Given the description of an element on the screen output the (x, y) to click on. 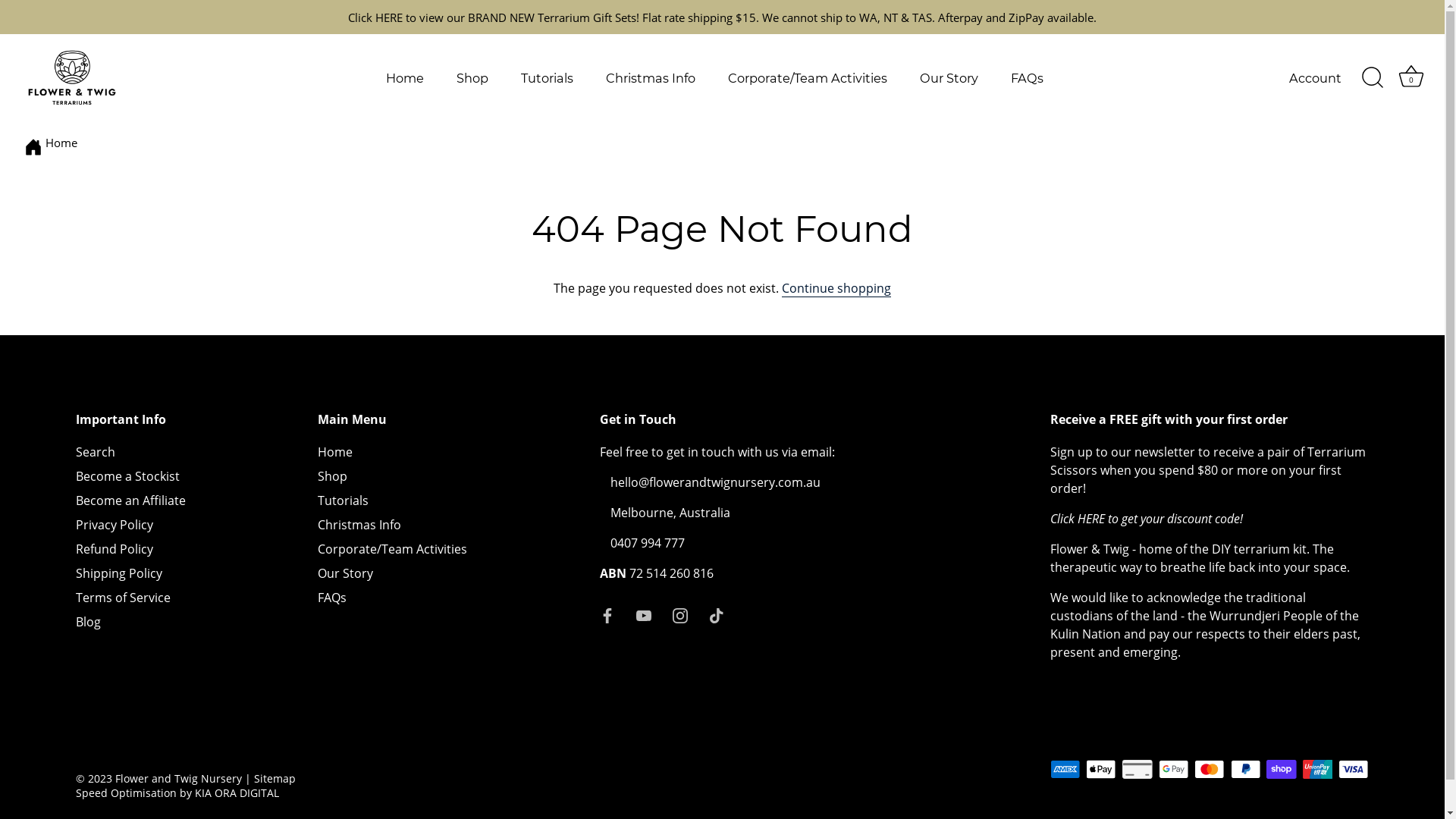
Account Element type: text (1328, 77)
Our Story Element type: text (948, 77)
Shipping Policy Element type: text (118, 572)
FAQs Element type: text (331, 597)
Become an Affiliate Element type: text (130, 500)
Home Element type: text (61, 142)
Home Element type: text (405, 77)
Youtube Element type: text (643, 613)
Shop Element type: text (332, 475)
Flower and Twig Nursery Element type: text (178, 778)
Terms of Service Element type: text (122, 597)
Become a Stockist Element type: text (127, 475)
Privacy Policy Element type: text (114, 524)
Search Element type: text (95, 451)
Speed Optimisation by KIA ORA DIGITAL Element type: text (177, 792)
Continue shopping Element type: text (836, 288)
hello@flowerandtwignursery.com.au Element type: text (715, 481)
Tutorials Element type: text (342, 500)
Corporate/Team Activities Element type: text (392, 548)
Refund Policy Element type: text (114, 548)
Basket
0 Element type: text (1410, 77)
Click HERE to get your discount code! Element type: text (1146, 518)
Home Element type: text (334, 451)
Tutorials Element type: text (547, 77)
Instagram Element type: text (679, 613)
Corporate/Team Activities Element type: text (806, 77)
Blog Element type: text (87, 621)
Sitemap Element type: text (274, 778)
Christmas Info Element type: text (359, 524)
Christmas Info Element type: text (650, 77)
Our Story Element type: text (345, 572)
FAQs Element type: text (1026, 77)
Shop Element type: text (472, 77)
